Given the description of an element on the screen output the (x, y) to click on. 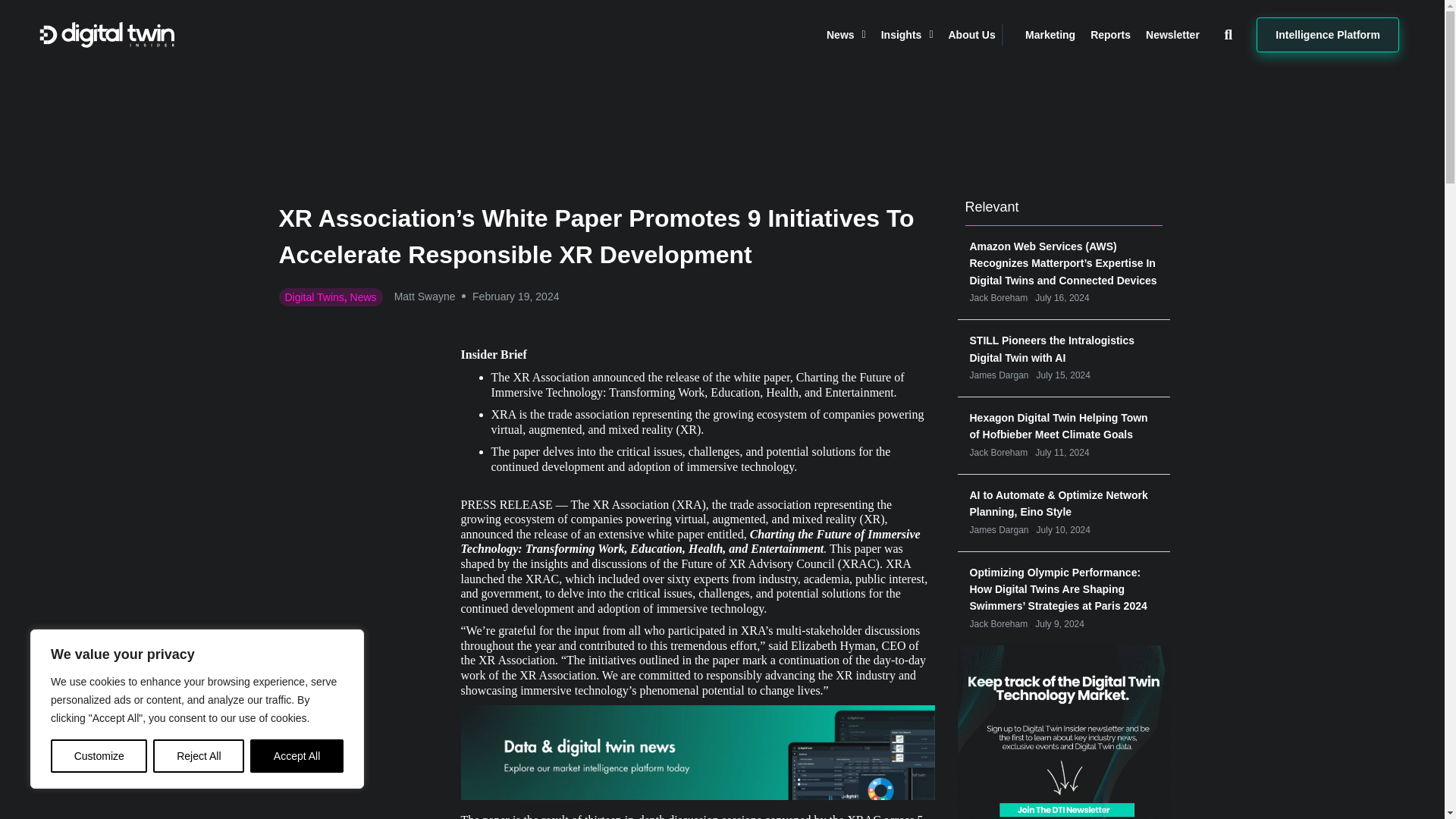
Insights (906, 34)
Customize (98, 756)
Marketing (1050, 34)
Reject All (198, 756)
Accept All (296, 756)
About Us (970, 34)
Newsletter (1172, 34)
News (846, 34)
Reports (1110, 34)
